Given the description of an element on the screen output the (x, y) to click on. 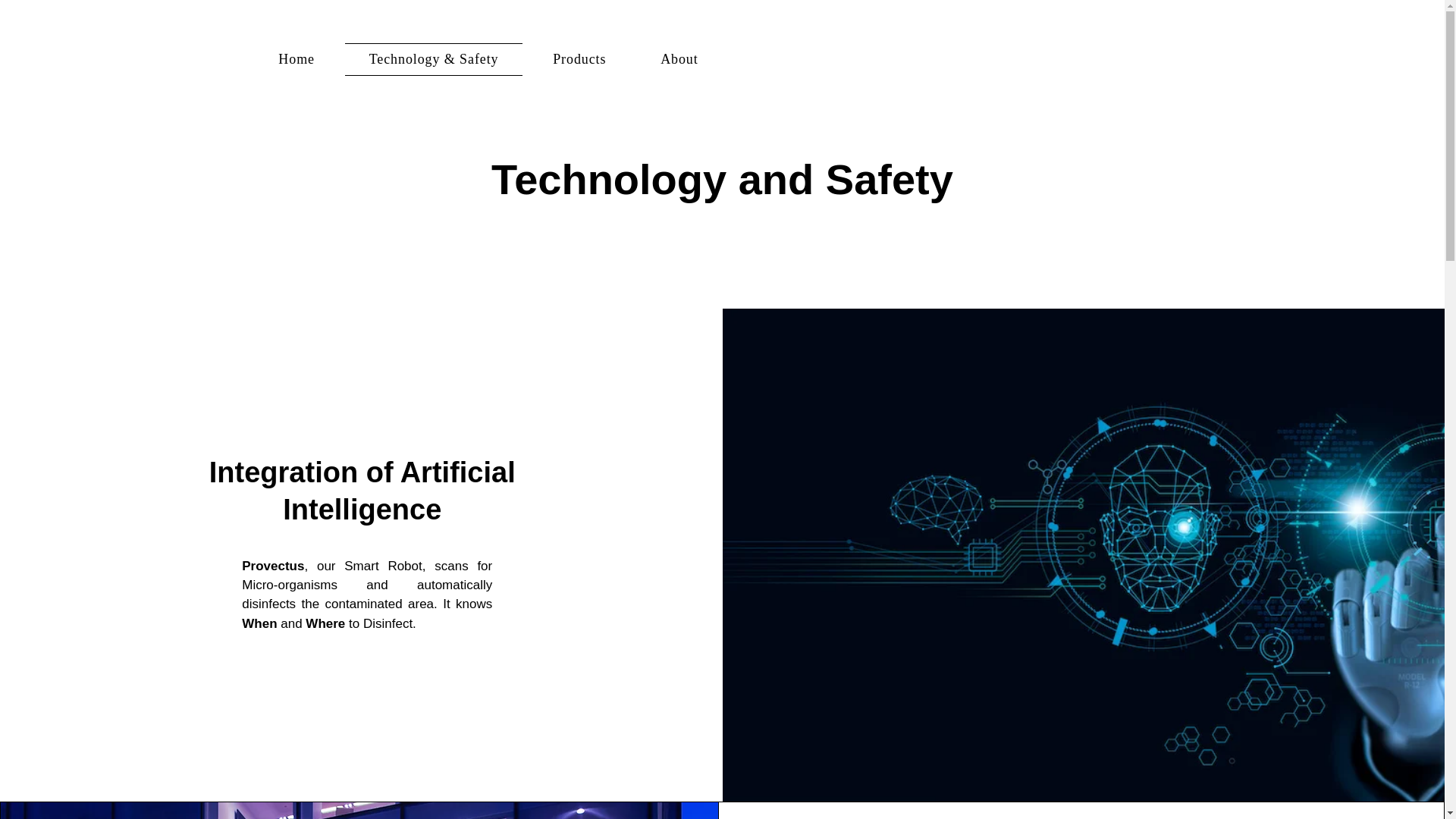
Products (579, 59)
About (679, 59)
Home (296, 59)
